Given the description of an element on the screen output the (x, y) to click on. 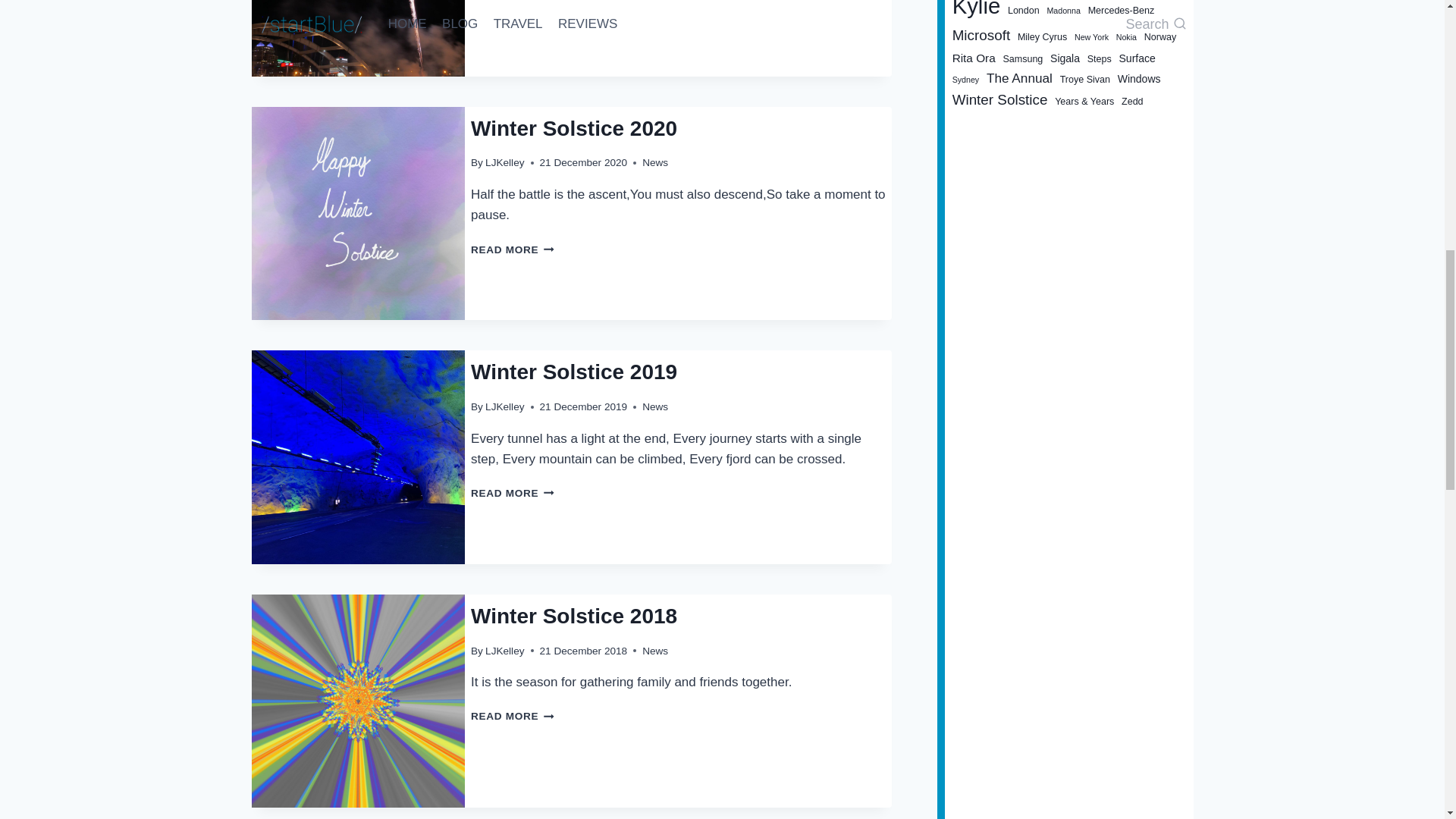
Winter Solstice 2019 (573, 372)
News (512, 249)
LJKelley (655, 162)
LJKelley (512, 715)
News (512, 492)
LJKelley (504, 650)
Winter Solstice 2020 (504, 162)
